Given the description of an element on the screen output the (x, y) to click on. 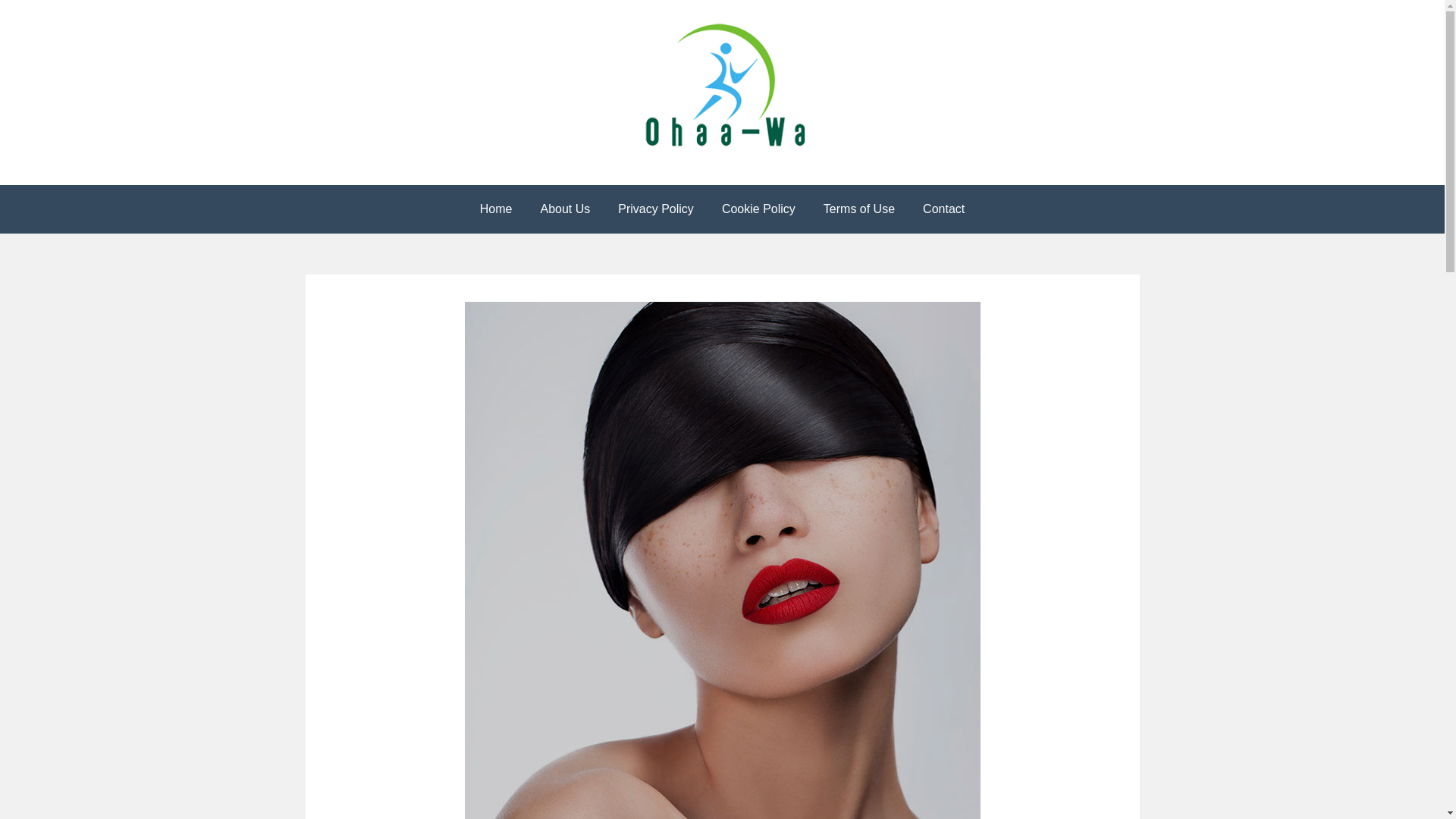
Ohaa-Wa Element type: text (77, 191)
Privacy Policy Element type: text (655, 209)
Home Element type: text (495, 209)
Terms of Use Element type: text (858, 209)
About Us Element type: text (564, 209)
Contact Element type: text (943, 209)
Cookie Policy Element type: text (758, 209)
